Given the description of an element on the screen output the (x, y) to click on. 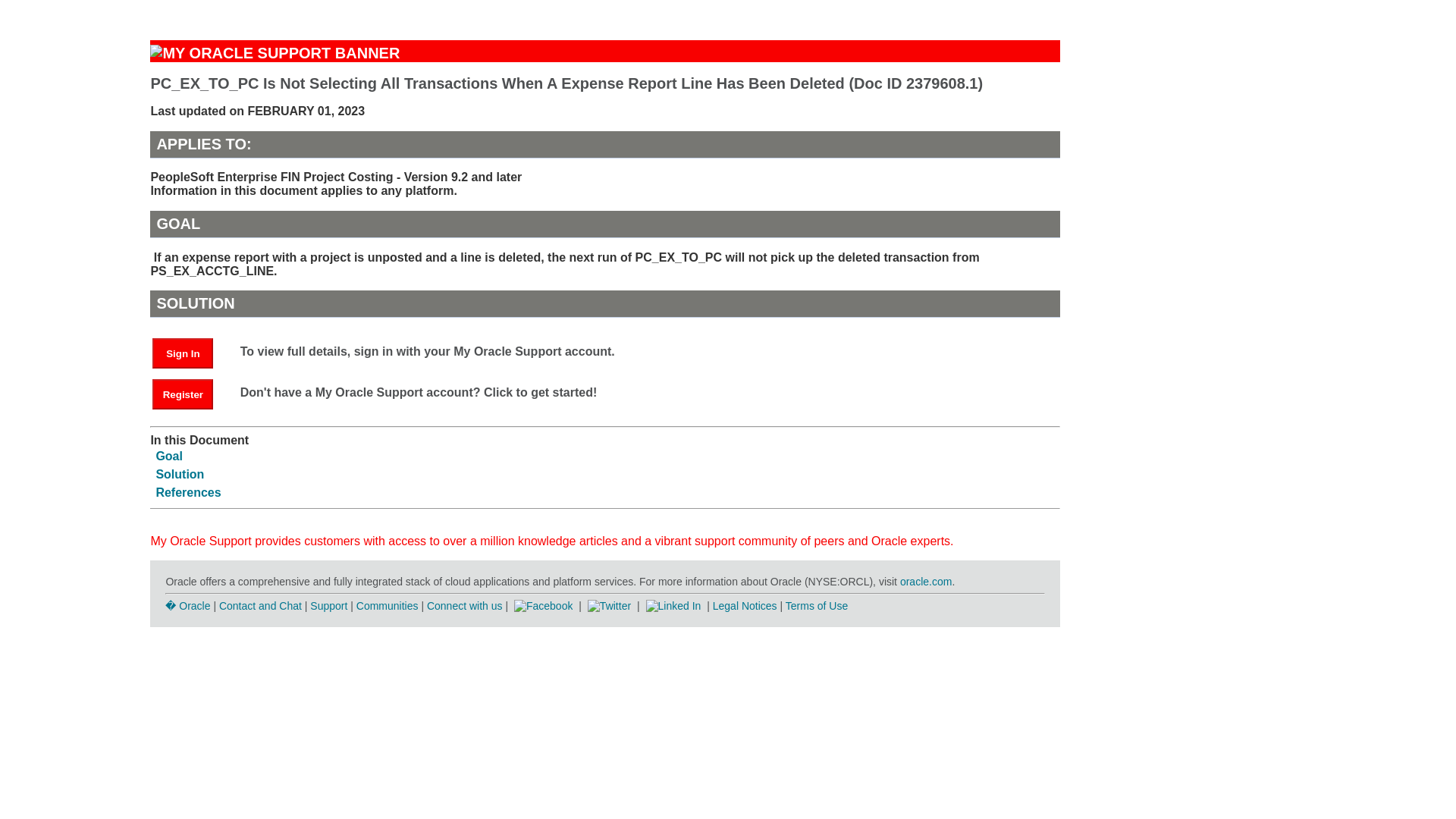
Support (328, 605)
Goal (169, 455)
Legal Notices (745, 605)
Connect with us (465, 605)
References (188, 492)
oracle.com (925, 581)
oracle.com (925, 581)
Communities (387, 605)
Register (190, 393)
Solution (179, 473)
